Given the description of an element on the screen output the (x, y) to click on. 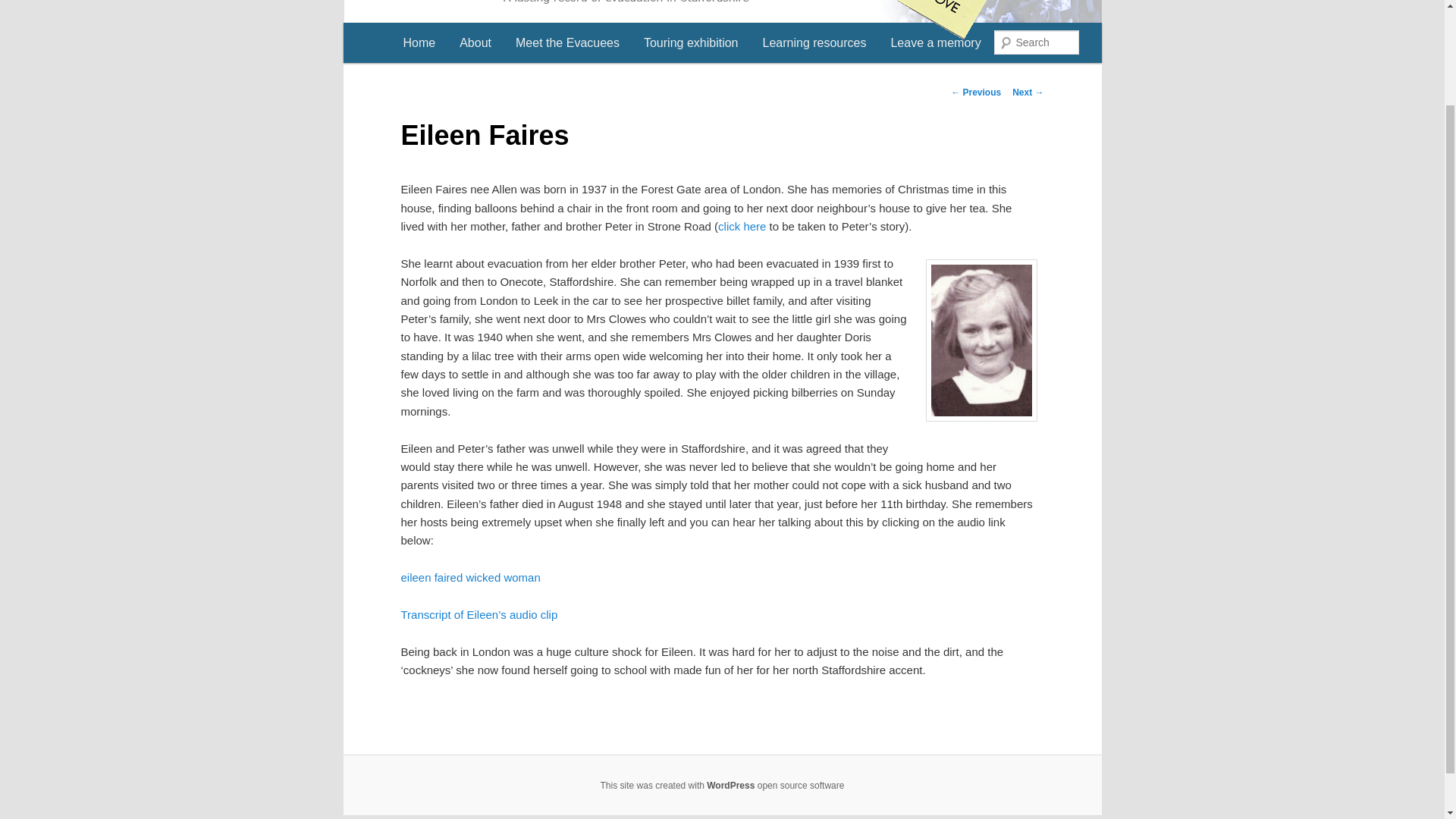
Leave a memory (934, 42)
Peter Allen (743, 226)
About (474, 42)
click here (743, 226)
Meet the Evacuees (567, 42)
WordPress (730, 785)
eileen faired wicked woman (470, 576)
Home (419, 42)
